Given the description of an element on the screen output the (x, y) to click on. 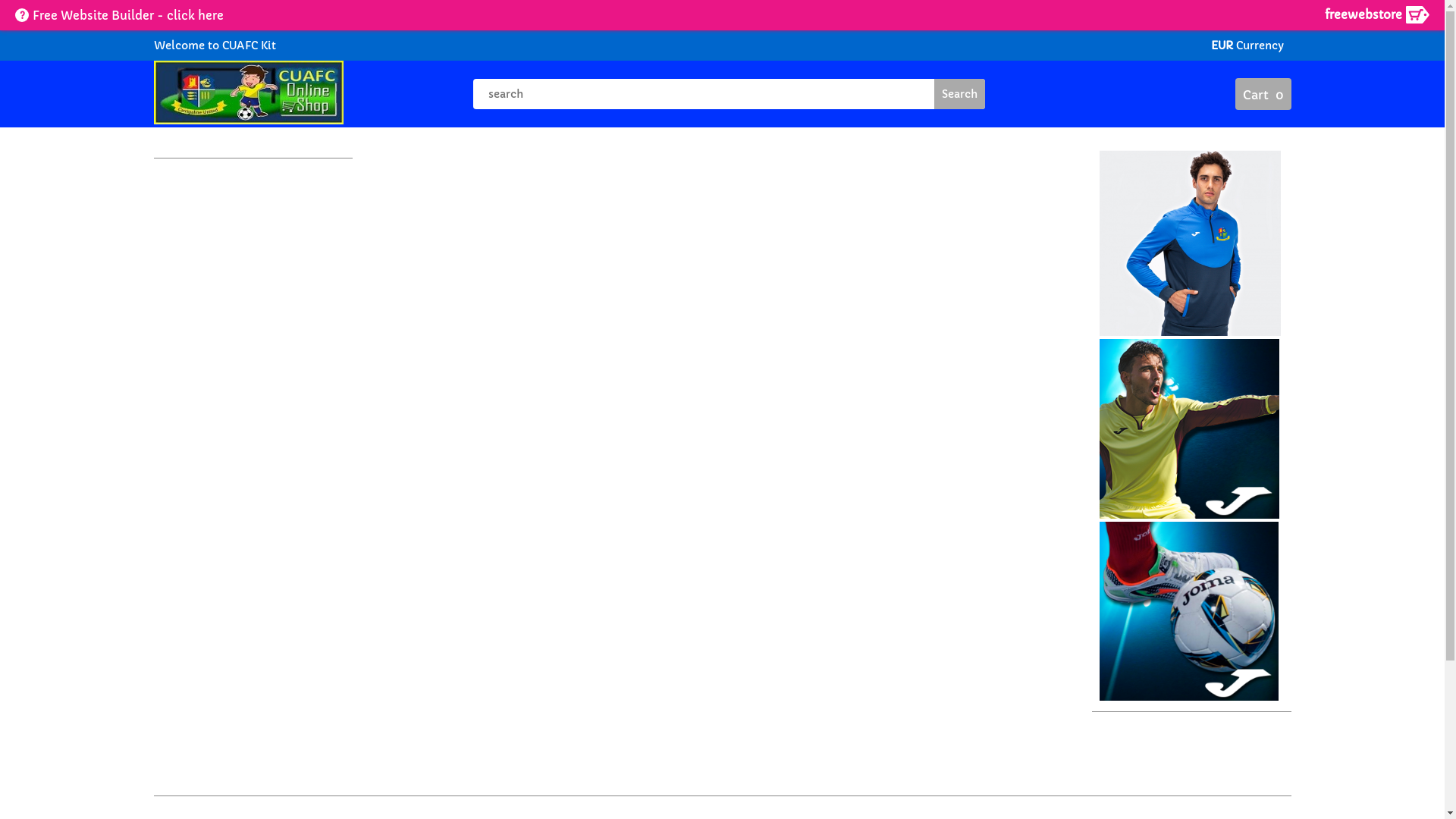
Cart 0 Element type: text (1262, 93)
CUAFC Kit Element type: text (246, 45)
CUAFC Kit Element type: hover (247, 93)
? Element type: text (21, 14)
Free Website Builder - click here Element type: text (127, 14)
Search Element type: text (959, 93)
freewebstore Element type: text (1376, 14)
